Given the description of an element on the screen output the (x, y) to click on. 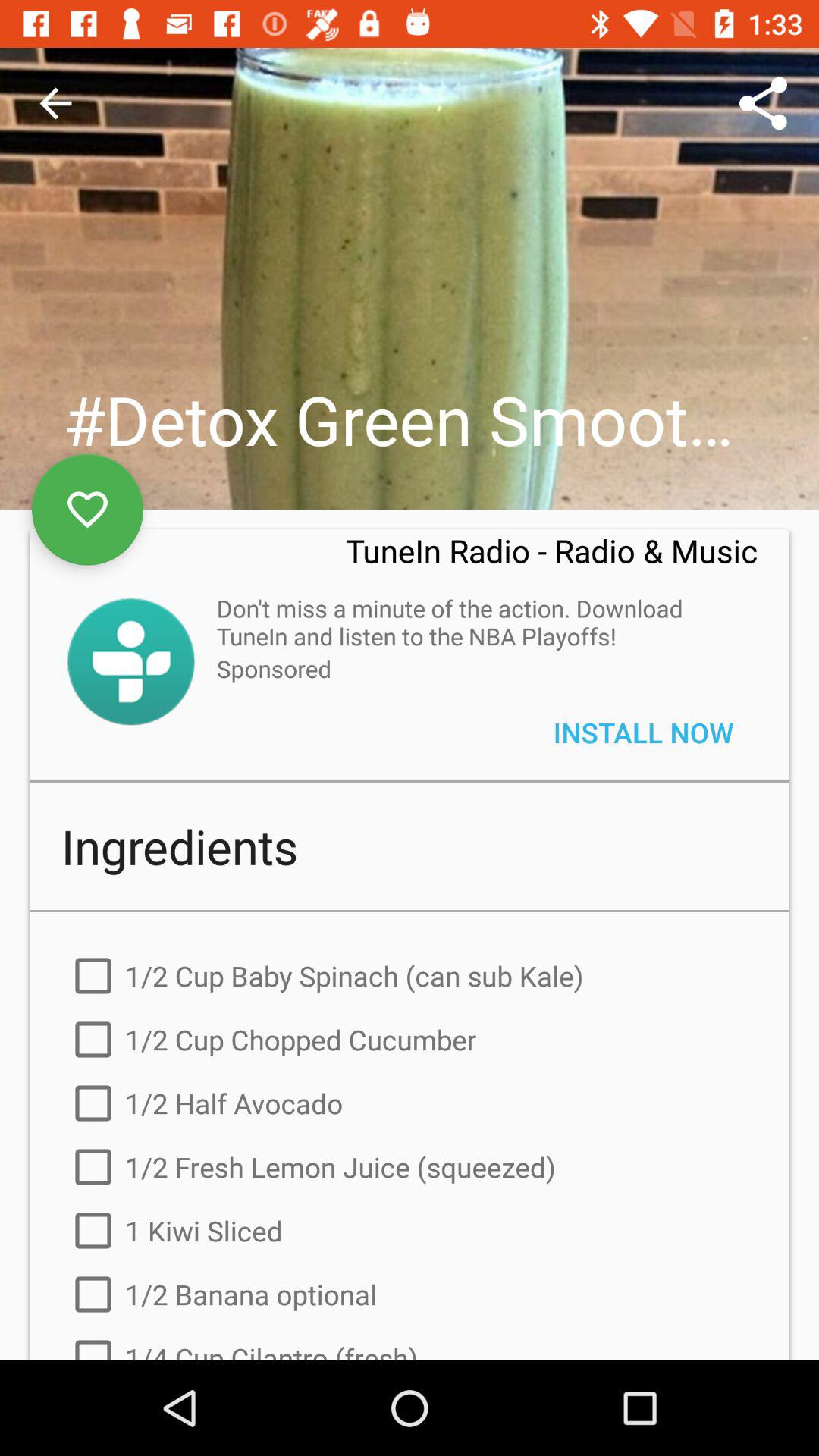
launch item to the right of sponsored icon (643, 732)
